Given the description of an element on the screen output the (x, y) to click on. 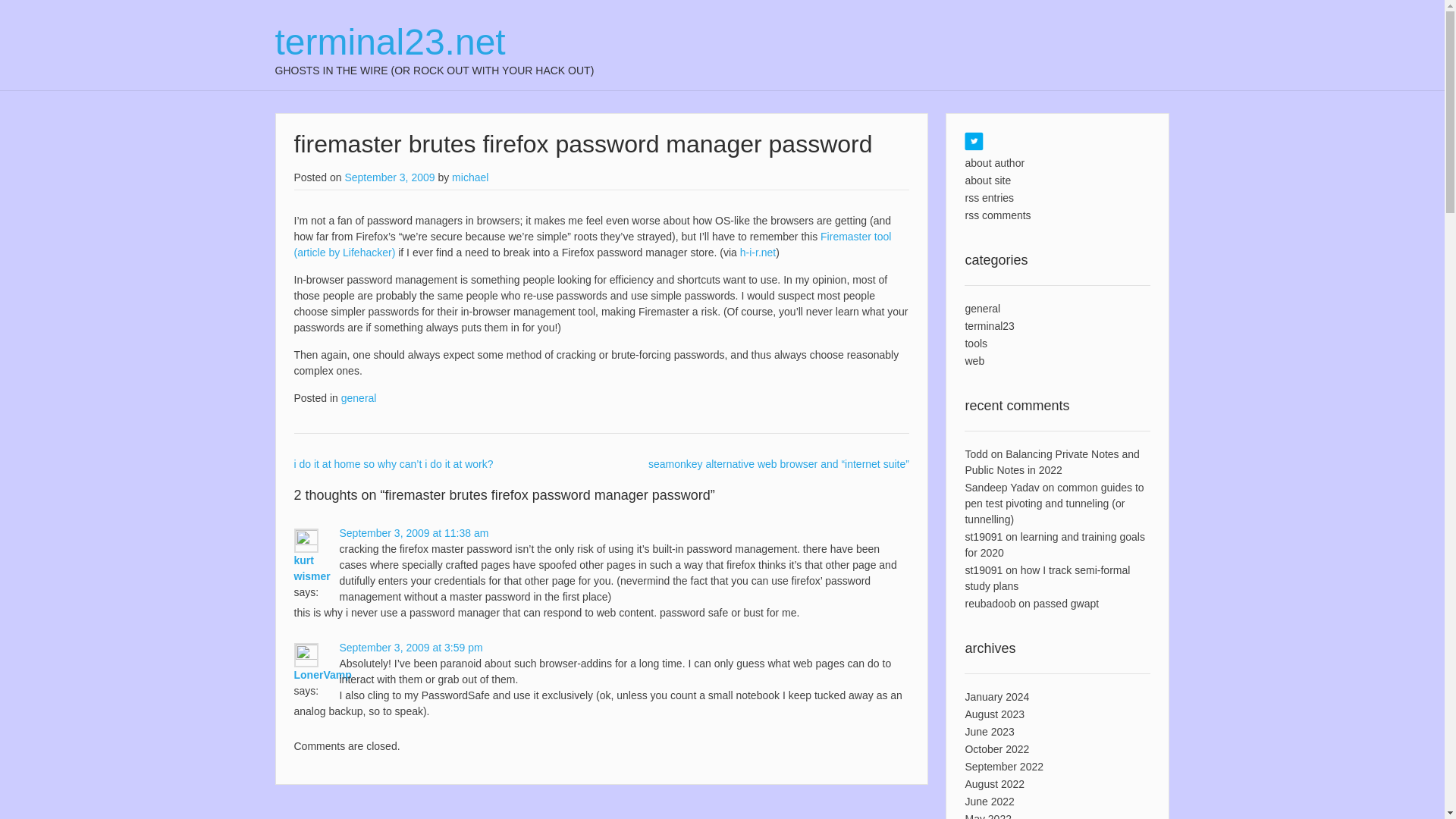
michael (469, 177)
LonerVamp (323, 674)
rss comments (996, 215)
tools (975, 343)
h-i-r.net (757, 252)
passed gwapt (1066, 603)
terminal23.net (434, 42)
terminal23.net (434, 42)
January 2024 (996, 696)
general (358, 398)
August 2022 (994, 784)
September 2022 (1003, 766)
about site (986, 180)
Balancing Private Notes and Public Notes in 2022 (1050, 461)
rss entries (988, 197)
